Given the description of an element on the screen output the (x, y) to click on. 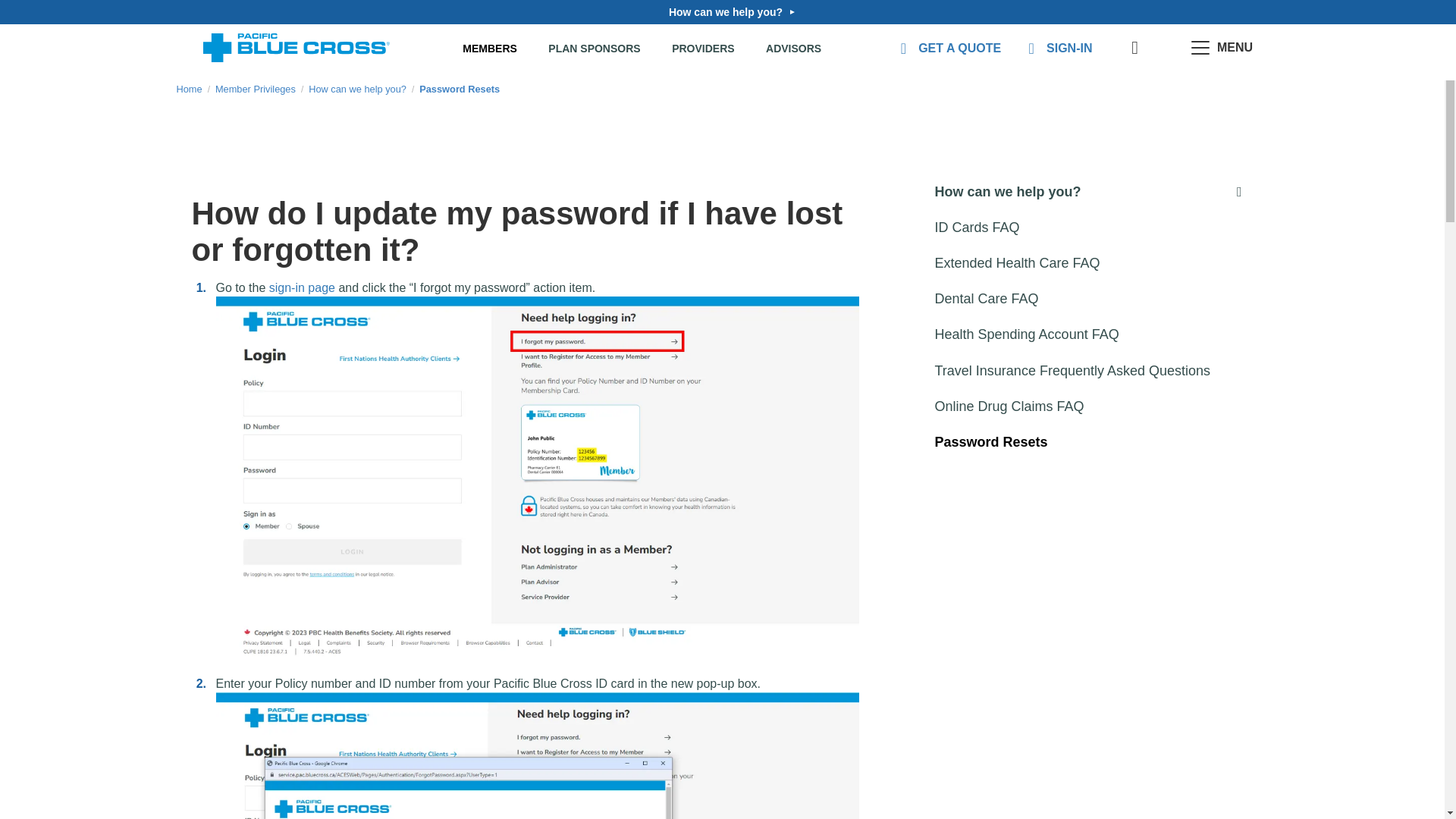
Search website (1136, 48)
PROVIDERS (702, 48)
SIGN-IN (1056, 48)
Home (189, 90)
Member Privileges (255, 90)
Password Resets (459, 90)
MEMBERS (489, 48)
sign-in page (301, 287)
How can we help you? (727, 11)
MENU (1222, 48)
